Given the description of an element on the screen output the (x, y) to click on. 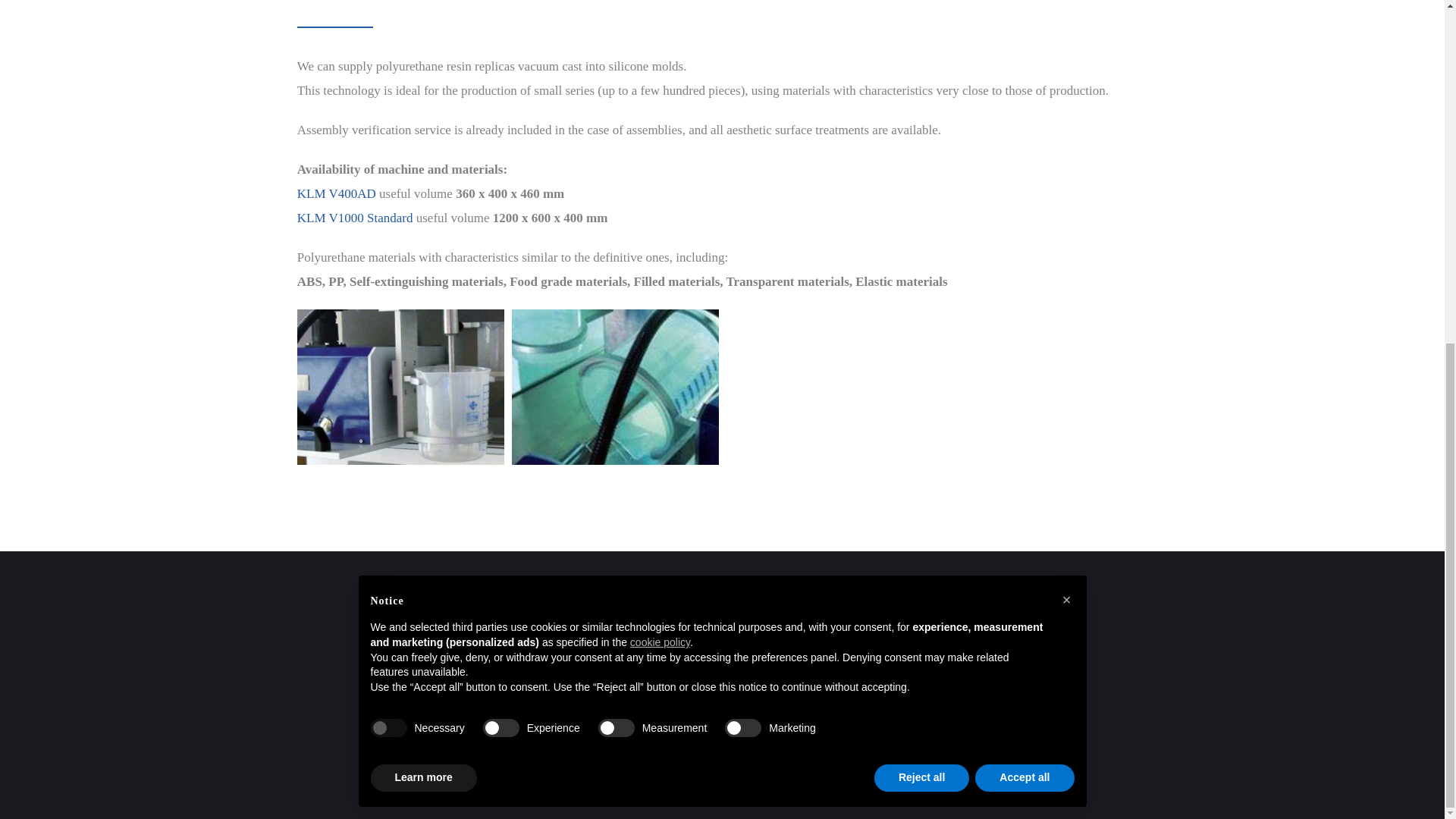
false (743, 142)
false (501, 142)
true (387, 142)
silicone2 (615, 387)
false (616, 142)
silicone1 (400, 387)
